Given the description of an element on the screen output the (x, y) to click on. 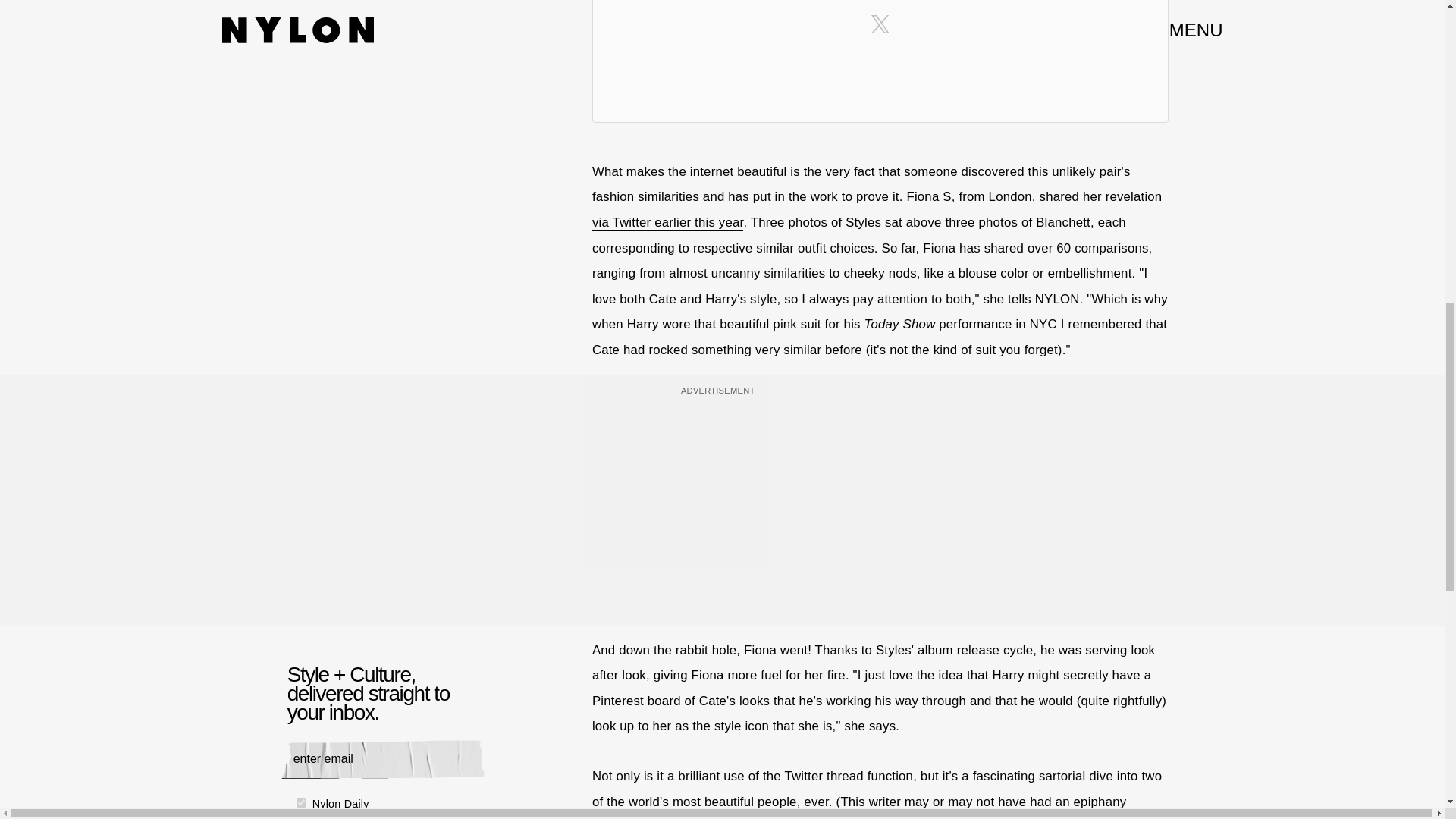
via Twitter earlier this year (667, 222)
